Given the description of an element on the screen output the (x, y) to click on. 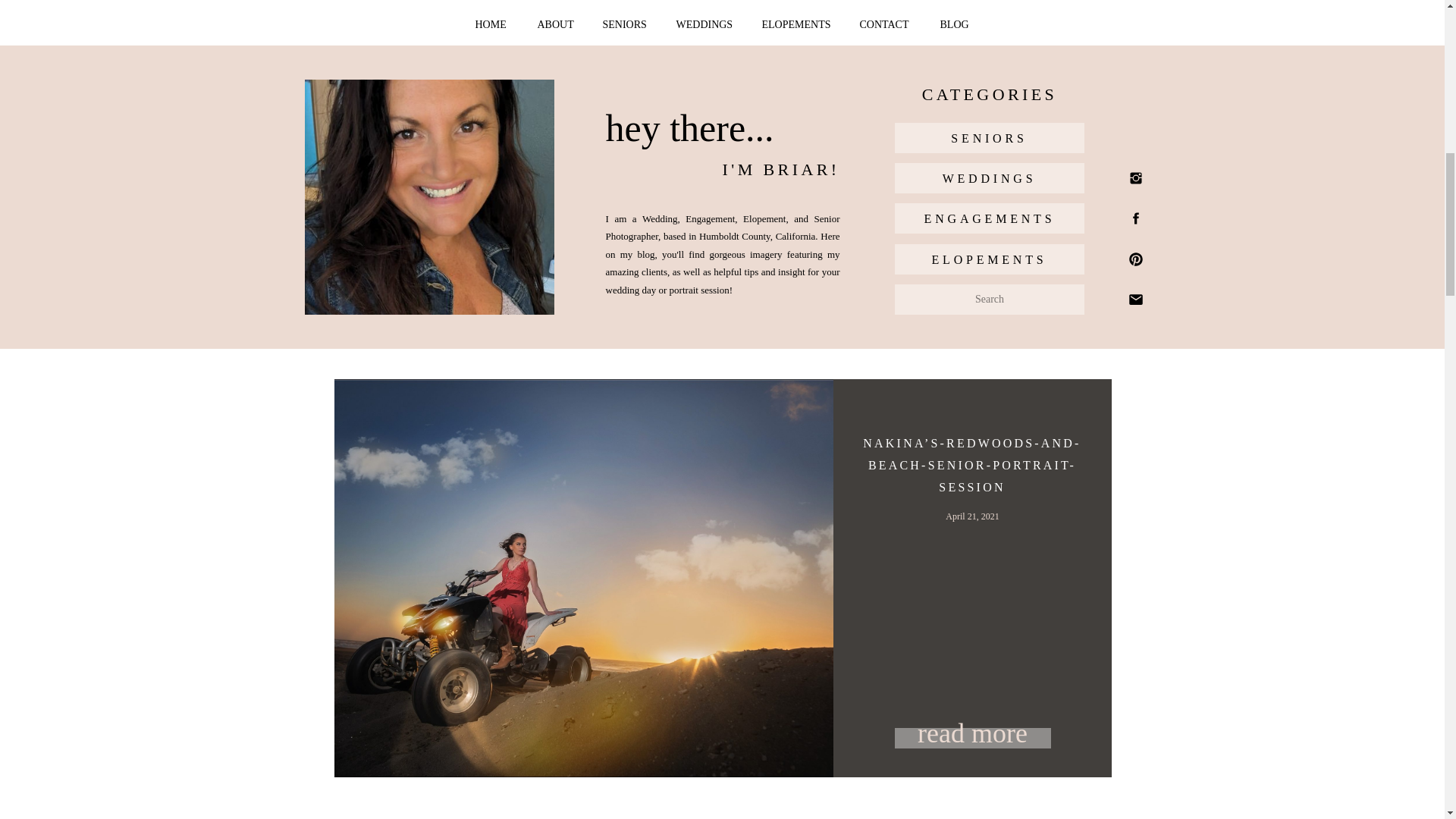
WEDDINGS (989, 178)
CONTACT (887, 25)
ELOPEMENTS (989, 259)
ABOUT (556, 25)
ENGAGEMENTS (989, 218)
WEDDINGS (706, 25)
ELOPEMENTS (796, 25)
SENIORS (989, 137)
HOME (491, 25)
BLOG (956, 25)
